Given the description of an element on the screen output the (x, y) to click on. 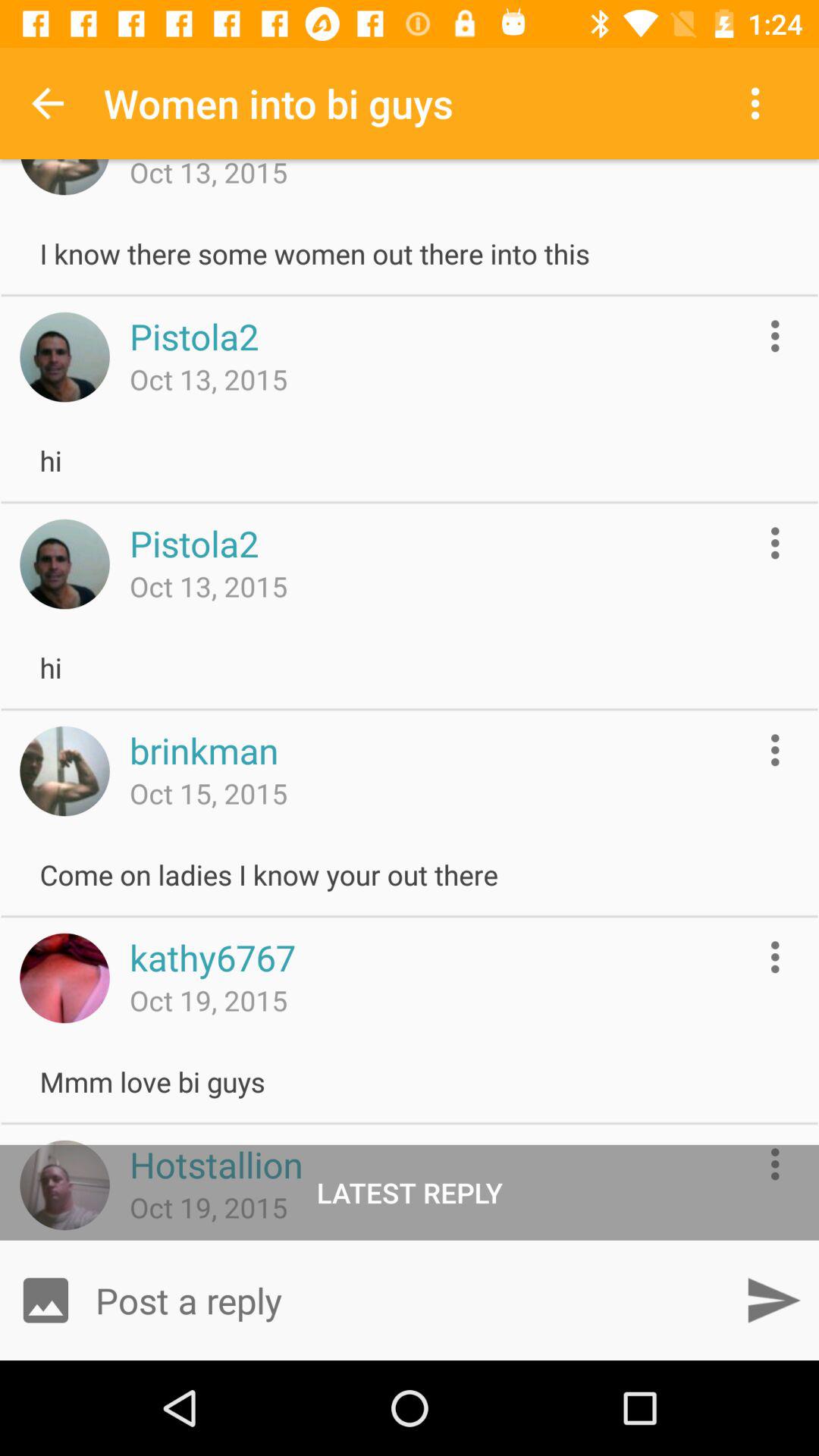
swipe until hotstallion icon (216, 1164)
